Given the description of an element on the screen output the (x, y) to click on. 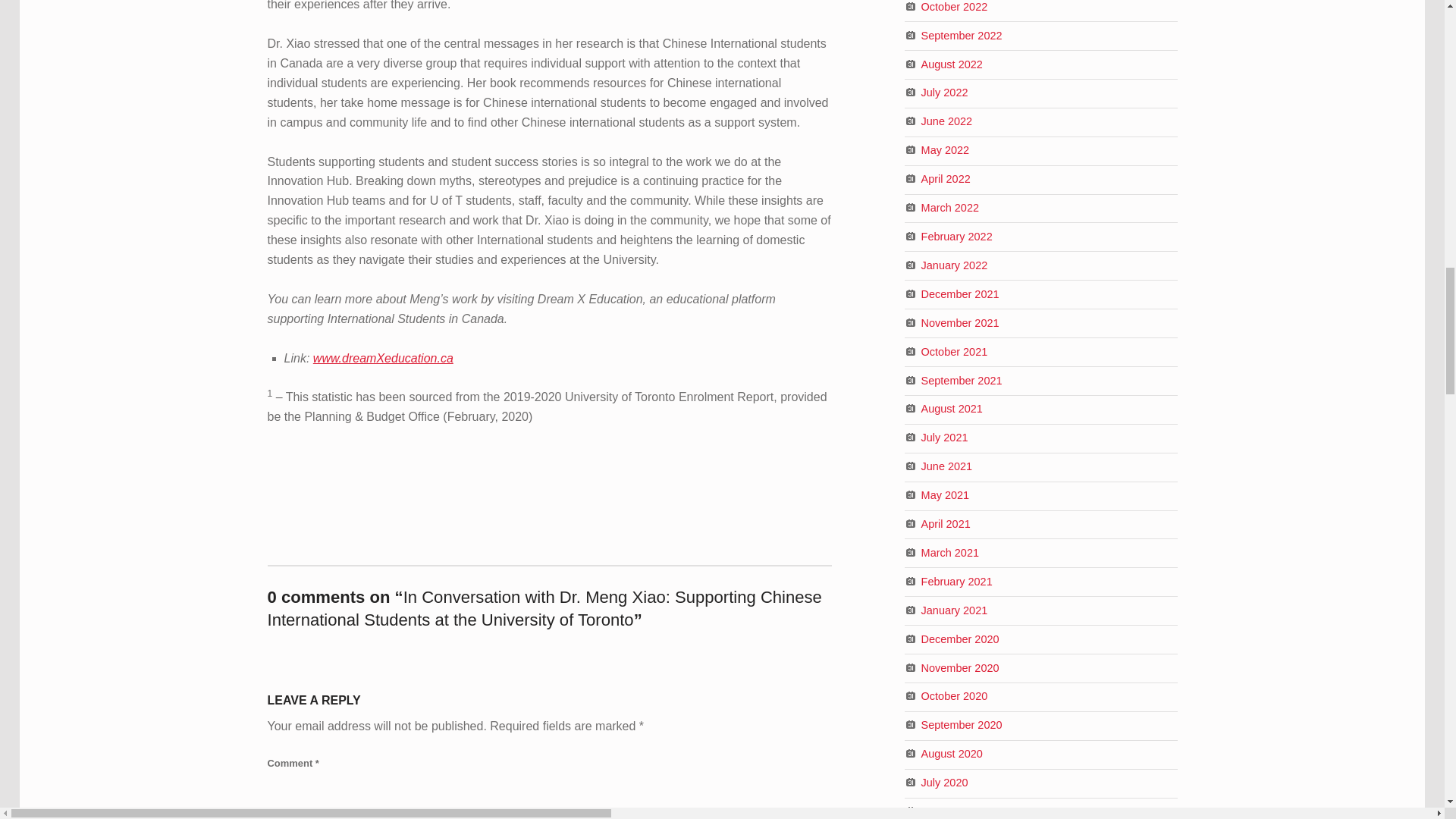
www.dreamXeducation.ca (382, 358)
